Given the description of an element on the screen output the (x, y) to click on. 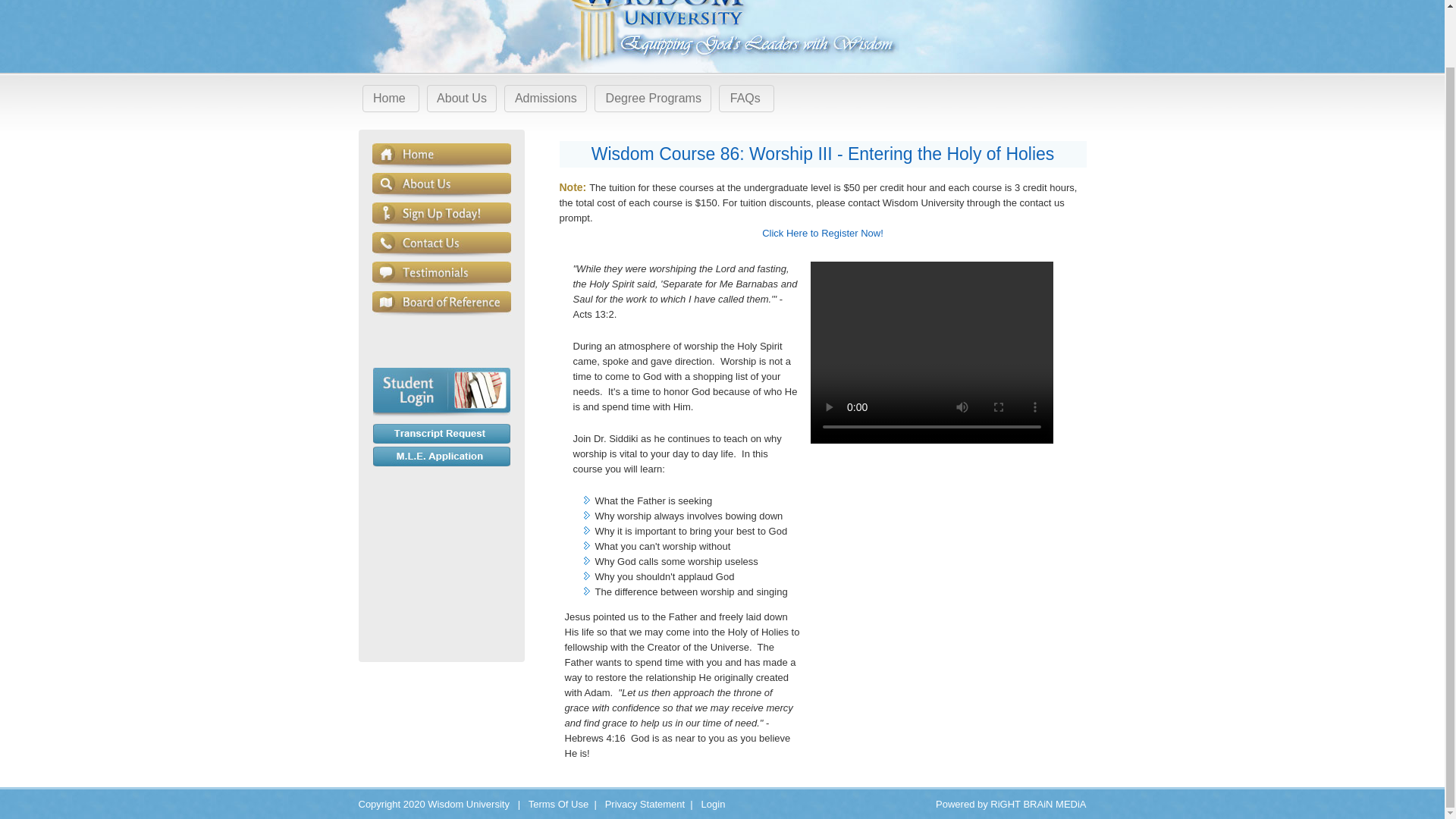
Powered by RiGHT BRAiN MEDiA (1011, 803)
Privacy Statement (645, 803)
Terms Of Use (558, 803)
Click Here to Register Now! (822, 240)
Login (713, 803)
